Given the description of an element on the screen output the (x, y) to click on. 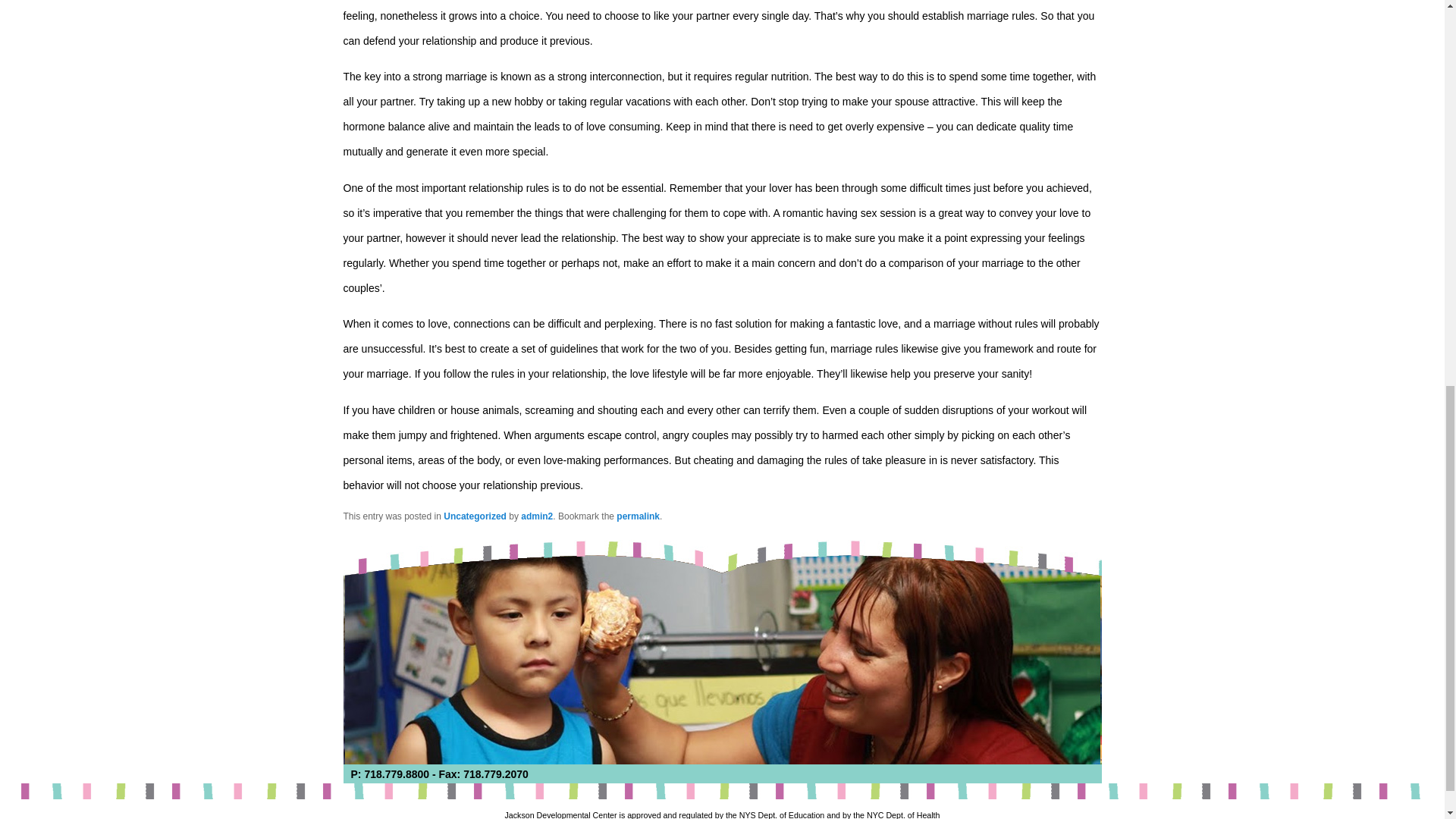
permalink (637, 516)
admin2 (537, 516)
Uncategorized (475, 516)
